Given the description of an element on the screen output the (x, y) to click on. 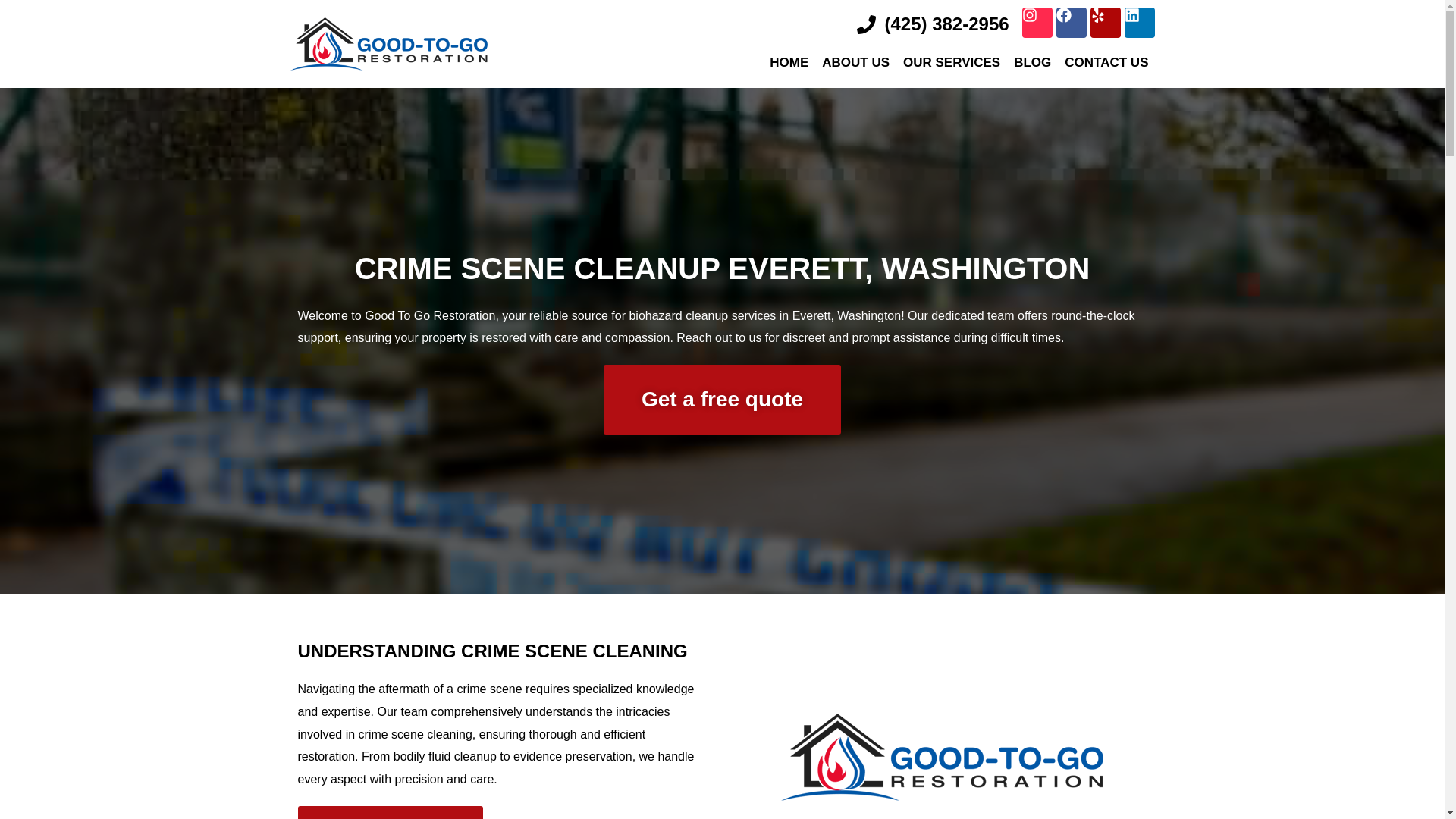
Yelp (1105, 22)
Get a free quote (722, 399)
CONTACT US (1106, 62)
OUR SERVICES (951, 62)
ABOUT US (855, 62)
Contact us (390, 812)
Linkedin (1139, 22)
BLOG (1032, 62)
Facebook (1070, 22)
Instagram (1037, 22)
logo - Good To Go Restoration - Good To Go Restoration (941, 756)
logo - Good To Go Restoration (387, 43)
HOME (787, 62)
